Given the description of an element on the screen output the (x, y) to click on. 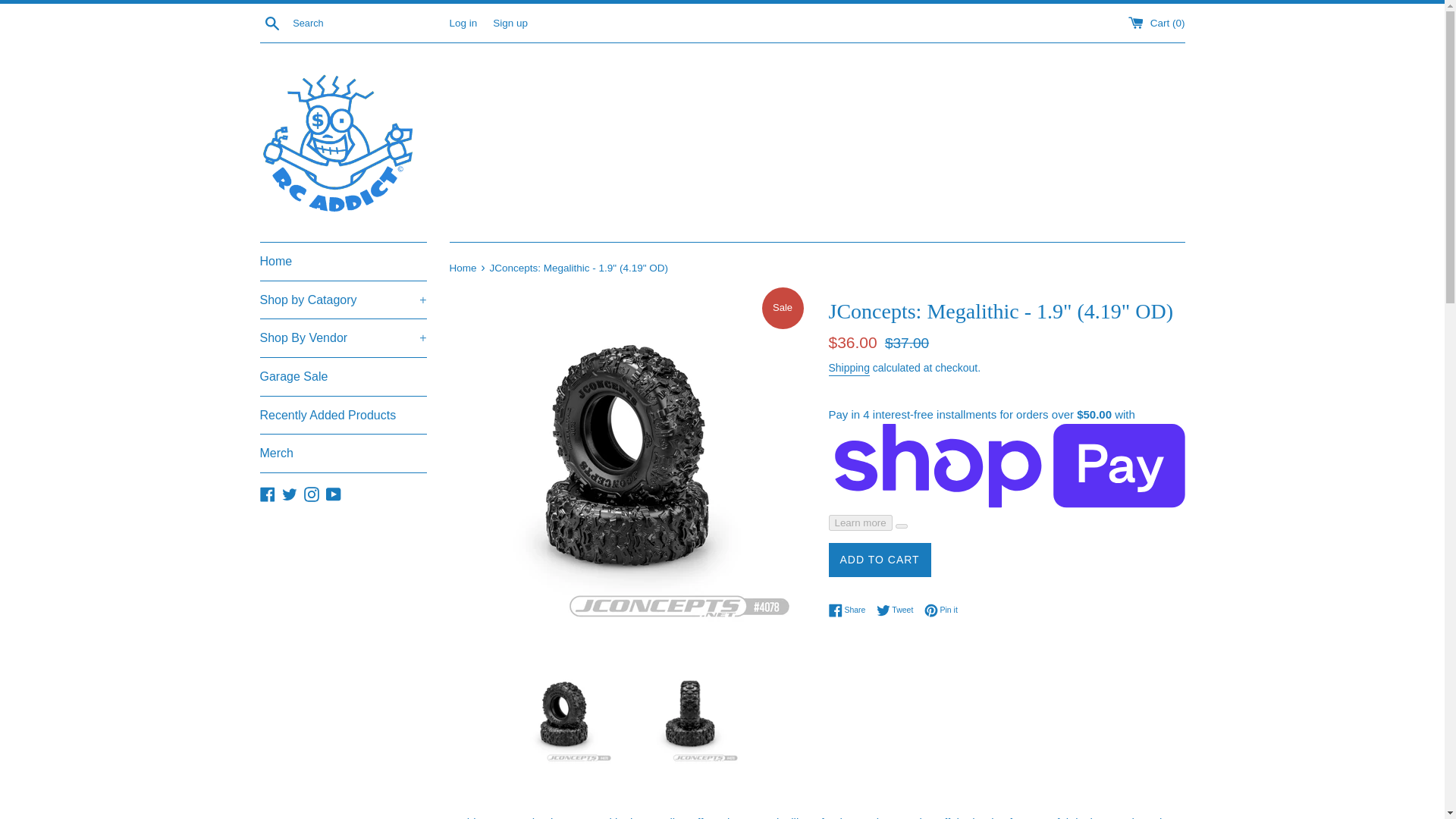
Share on Facebook (850, 610)
Search (271, 21)
RC Addict on Twitter (289, 492)
Pin on Pinterest (941, 610)
Tweet on Twitter (898, 610)
RC Addict on YouTube (333, 492)
Back to the frontpage (463, 267)
Log in (462, 21)
RC Addict on Facebook (267, 492)
Sign up (510, 21)
